Given the description of an element on the screen output the (x, y) to click on. 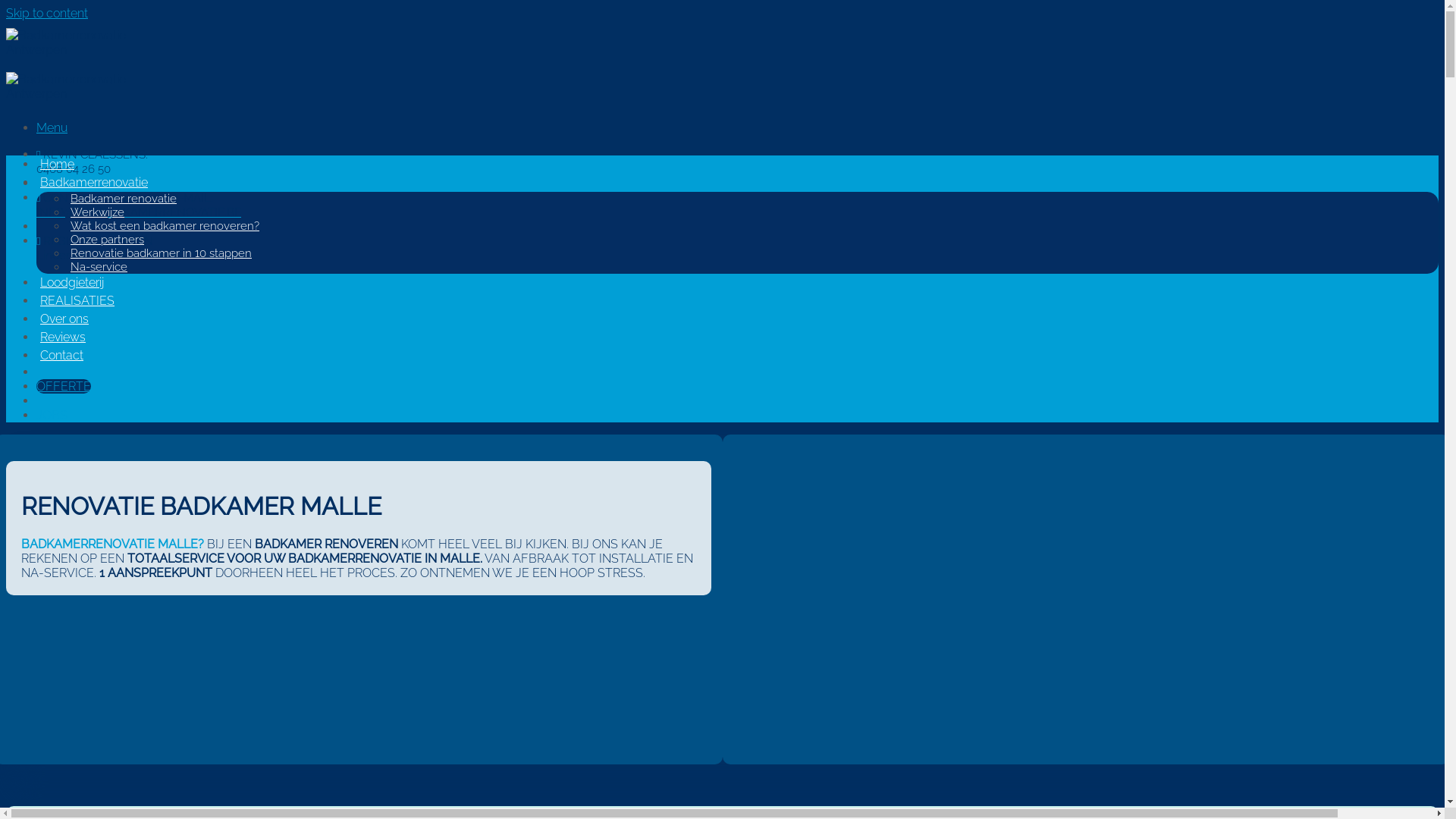
JOBS Element type: text (51, 414)
Werkwijze Element type: text (97, 212)
Reviews Element type: text (62, 336)
Na-service Element type: text (98, 266)
Contact Element type: text (61, 355)
Renovatie badkamer in 10 stappen Element type: text (160, 253)
Over ons Element type: text (64, 318)
Home Element type: text (57, 163)
Wat kost een badkamer renoveren? Element type: text (164, 225)
Skip to content Element type: text (46, 13)
0468 04 26 50 Element type: text (73, 168)
REALISATIES Element type: text (77, 300)
Badkamerrenovatie Element type: text (93, 182)
Loodgieterij Element type: text (71, 282)
Onze partners Element type: text (107, 239)
Menu Element type: text (51, 127)
Badkamer renovatie Element type: text (123, 198)
OFFERTE Element type: text (63, 386)
INFO@BCL-BADKAMERRENOVATIE.BE Element type: text (138, 212)
